Given the description of an element on the screen output the (x, y) to click on. 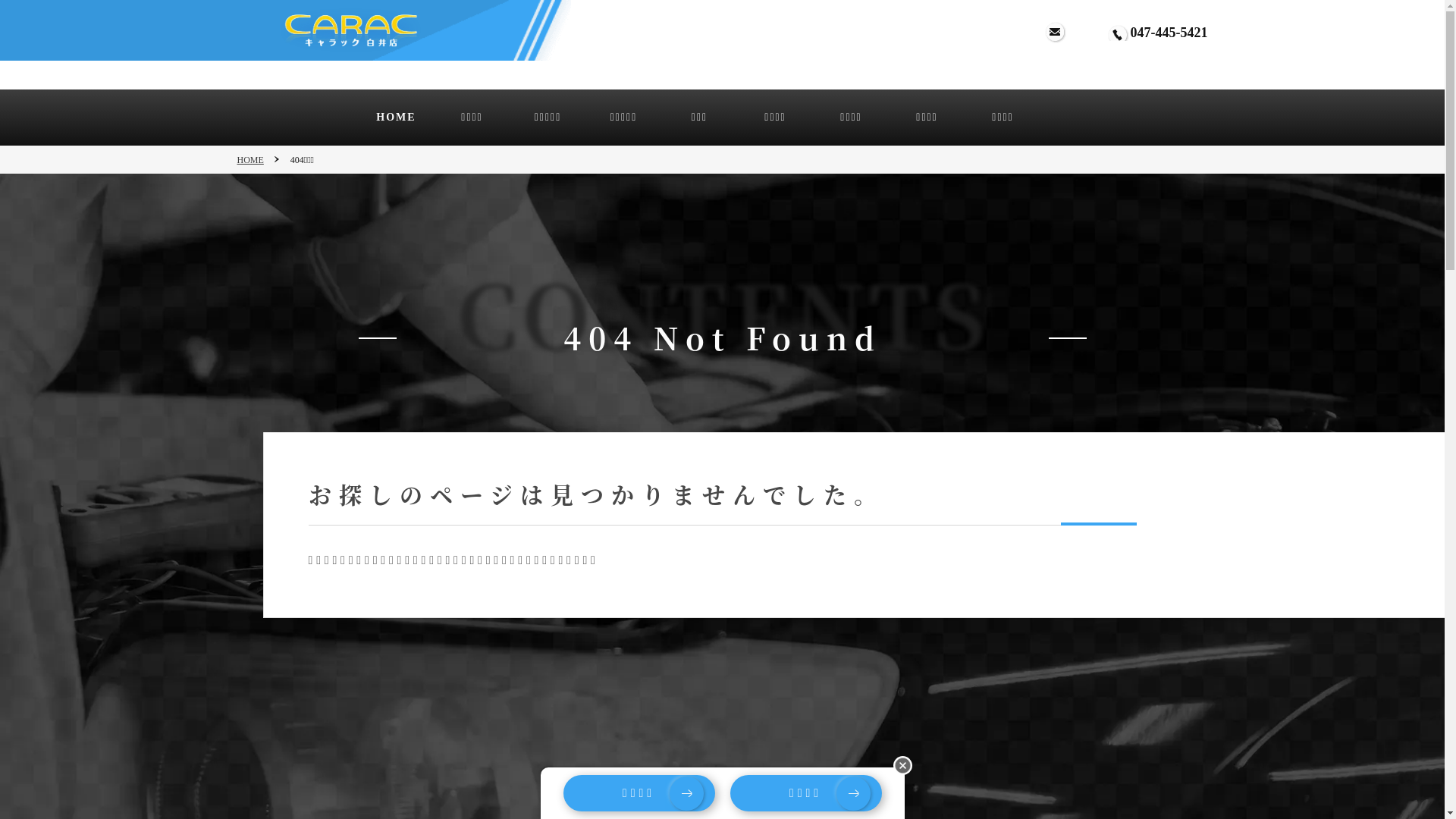
HOME Element type: text (257, 160)
HOME Element type: text (395, 117)
047-445-5421 Element type: text (1168, 32)
